Given the description of an element on the screen output the (x, y) to click on. 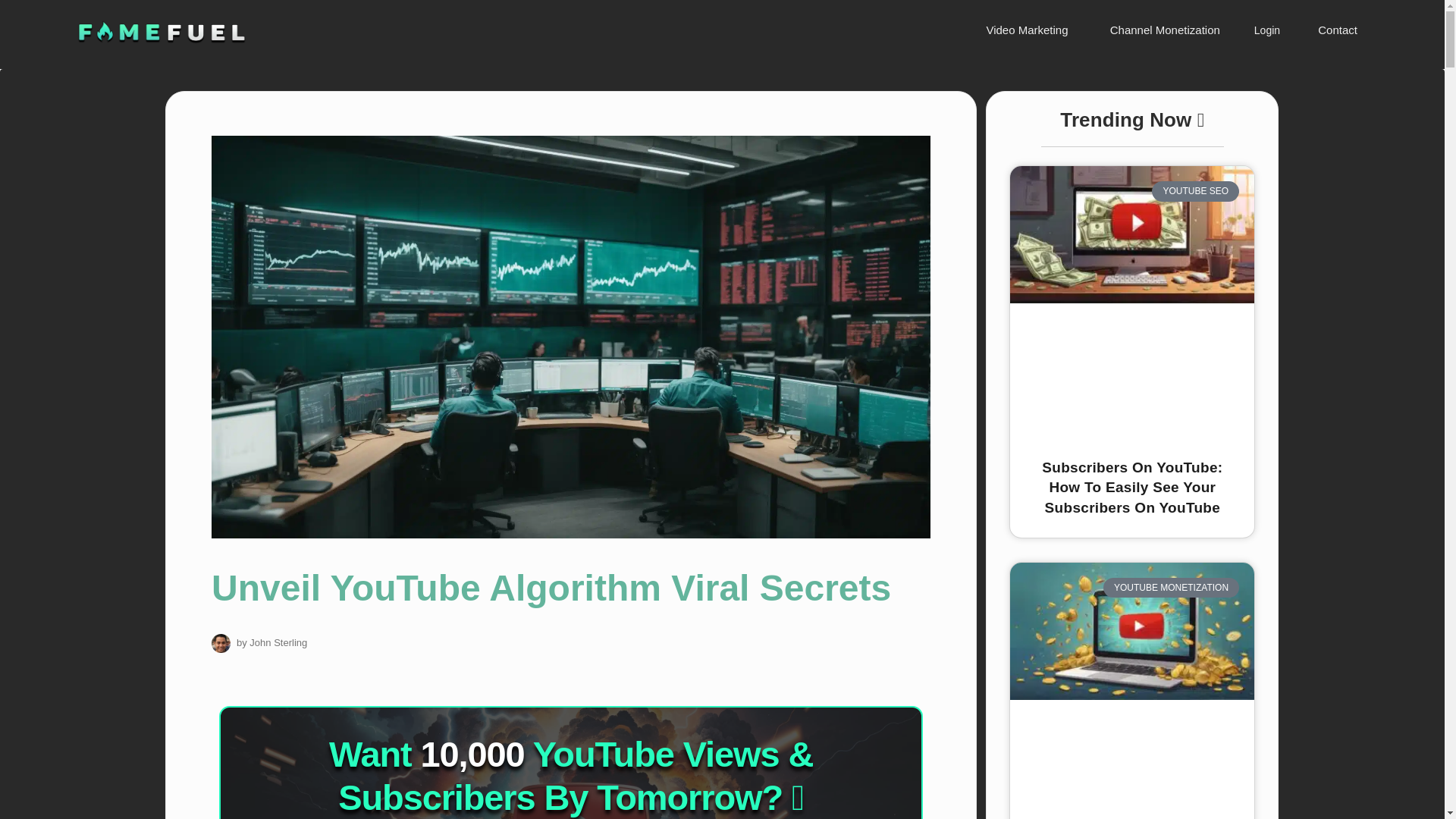
Contact (1335, 30)
Video Marketing (1024, 30)
Login (1267, 30)
Channel Monetization (1163, 30)
